Given the description of an element on the screen output the (x, y) to click on. 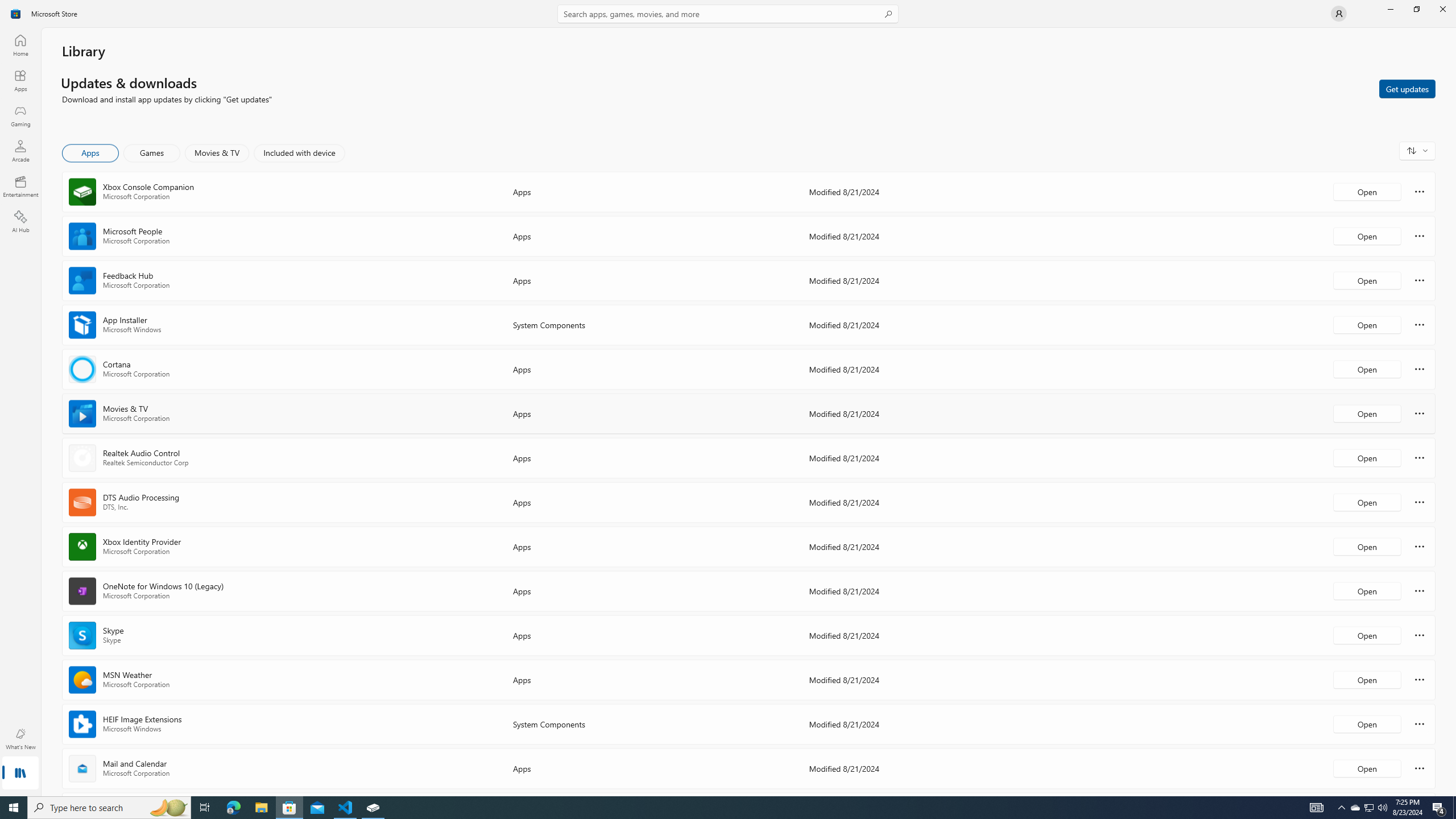
More options (1419, 768)
Search (727, 13)
Games (151, 153)
Movies & TV (216, 153)
AutomationID: NavigationControl (728, 398)
Included with device (299, 153)
Get updates (1406, 88)
Open (1366, 768)
